Given the description of an element on the screen output the (x, y) to click on. 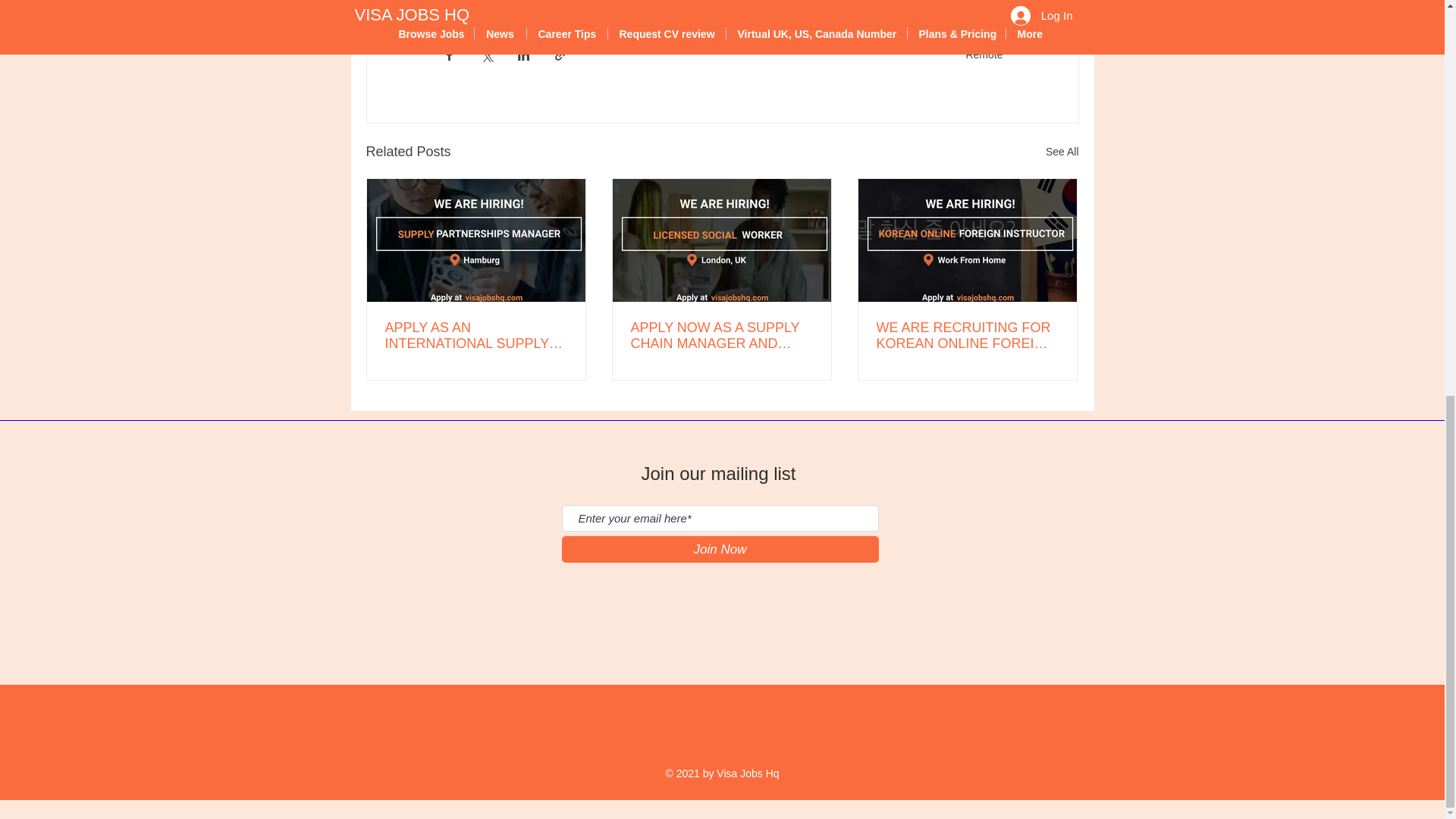
management (537, 4)
Remote (984, 54)
See All (1061, 151)
admin (465, 4)
